Given the description of an element on the screen output the (x, y) to click on. 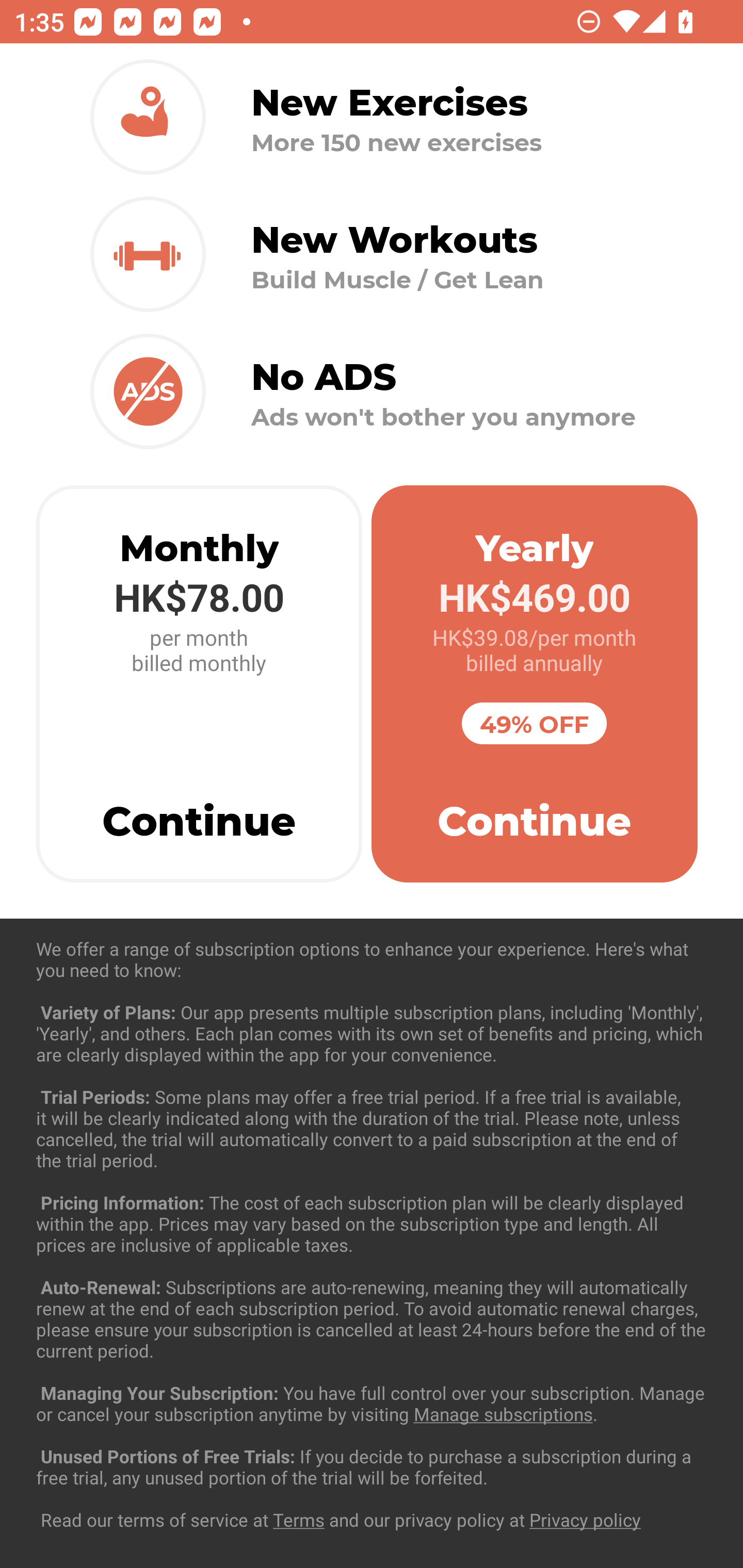
Monthly HK$78.00 per month
billed monthly Continue (199, 684)
Exercise Chest 37 exercises (371, 1033)
Exercise Forearms 4 exercises (371, 1232)
Exercise Legs 36 exercises (371, 1430)
